Given the description of an element on the screen output the (x, y) to click on. 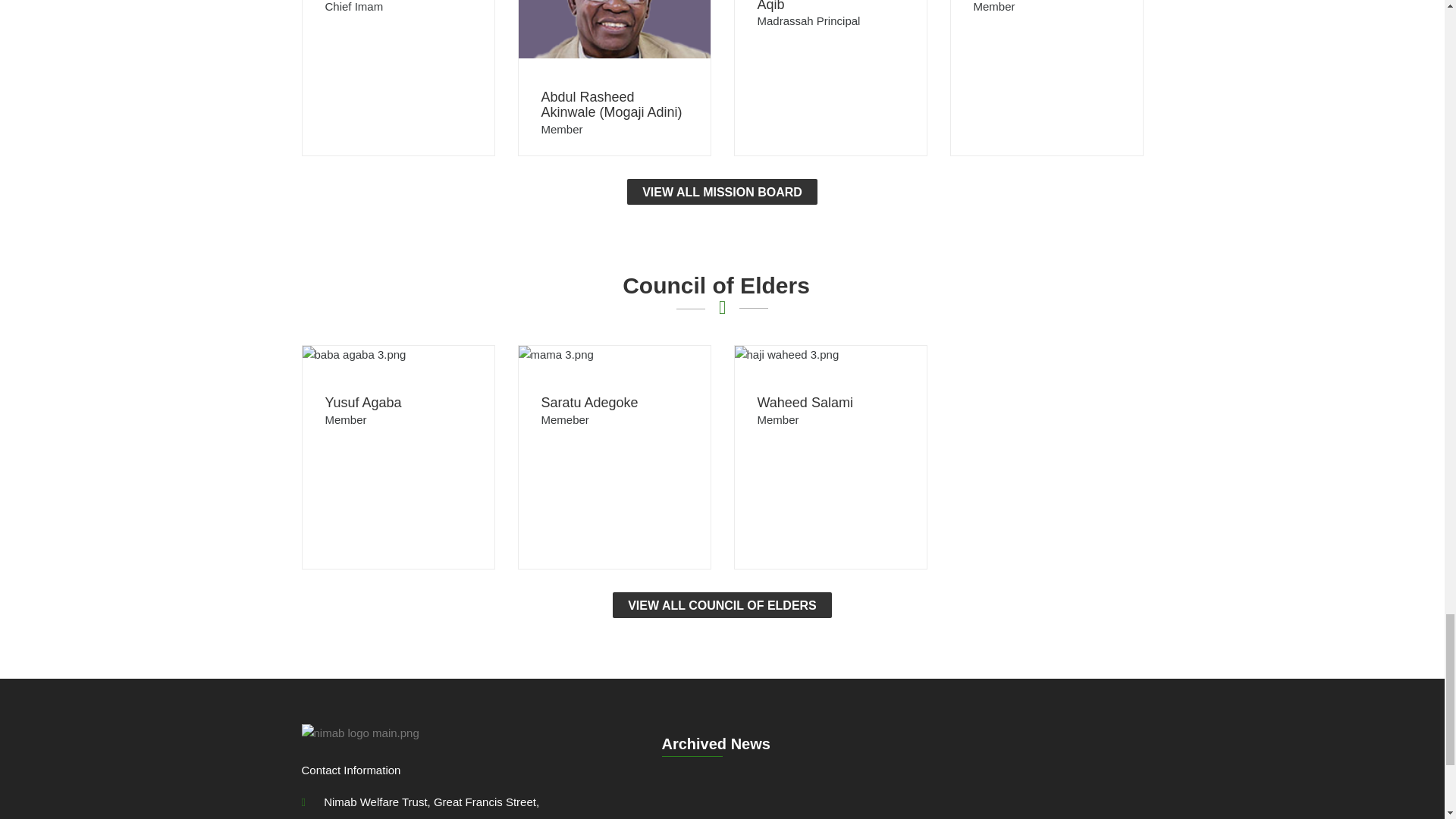
Nimab Welfare Trust, Great Francis Street, (420, 802)
VIEW ALL COUNCIL OF ELDERS (721, 605)
Nechells, Birmingham B7 4QN (401, 817)
VIEW ALL MISSION BOARD (721, 191)
